Given the description of an element on the screen output the (x, y) to click on. 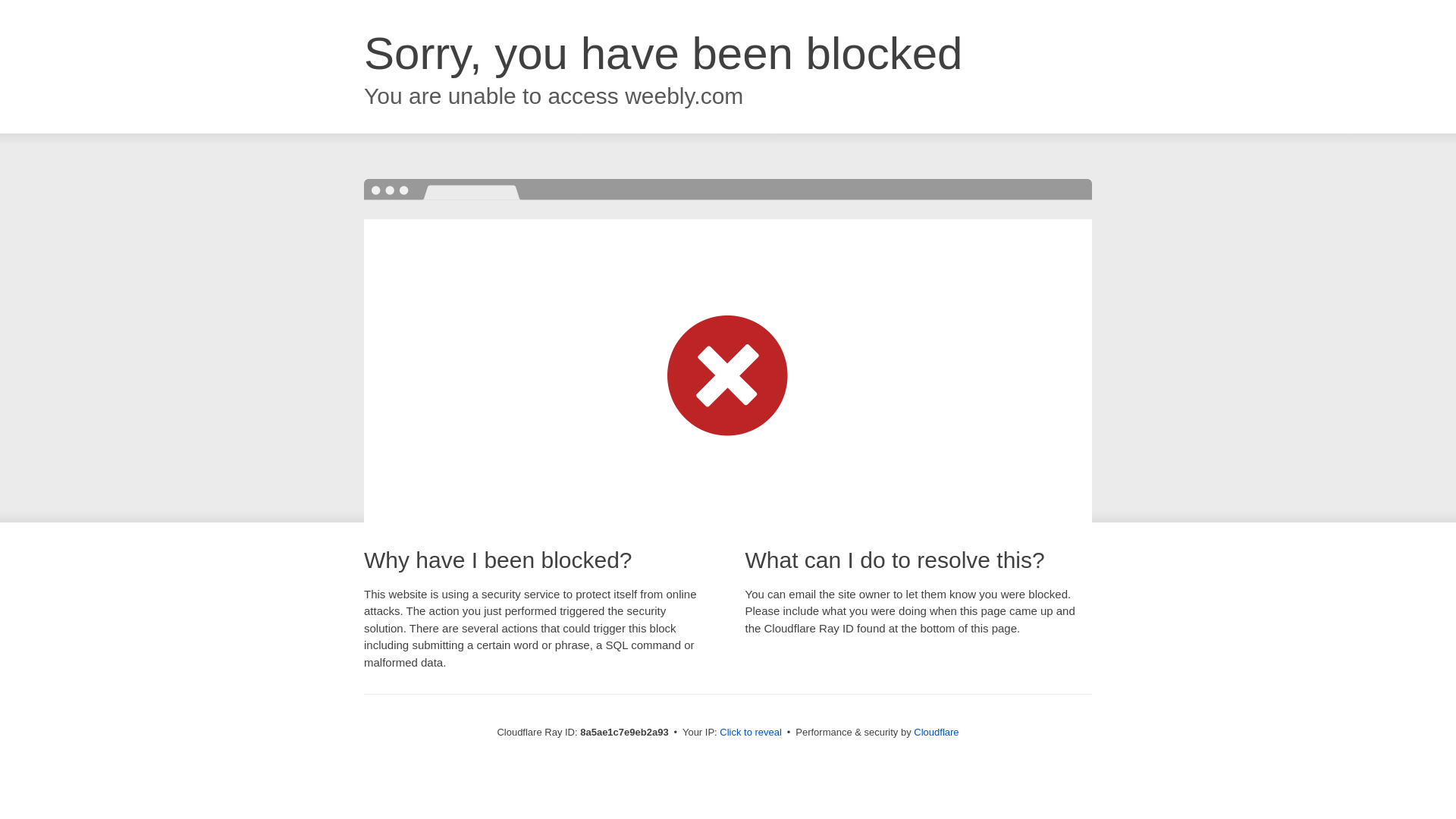
Click to reveal (750, 732)
Cloudflare (936, 731)
